Given the description of an element on the screen output the (x, y) to click on. 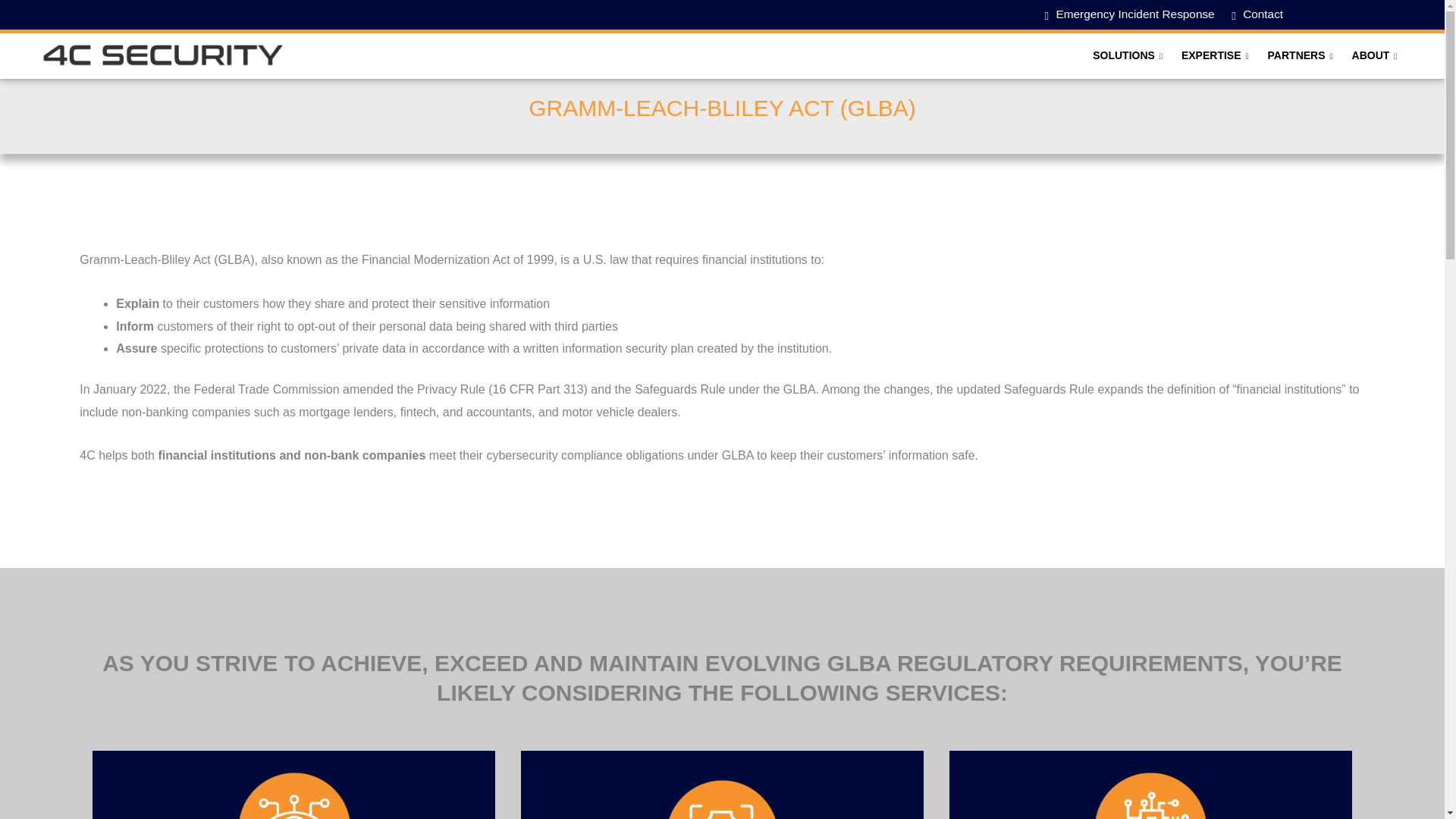
EXPERTISE (1216, 55)
Emergency Incident Response (1129, 14)
SOLUTIONS (1128, 55)
Contact (1257, 14)
